Given the description of an element on the screen output the (x, y) to click on. 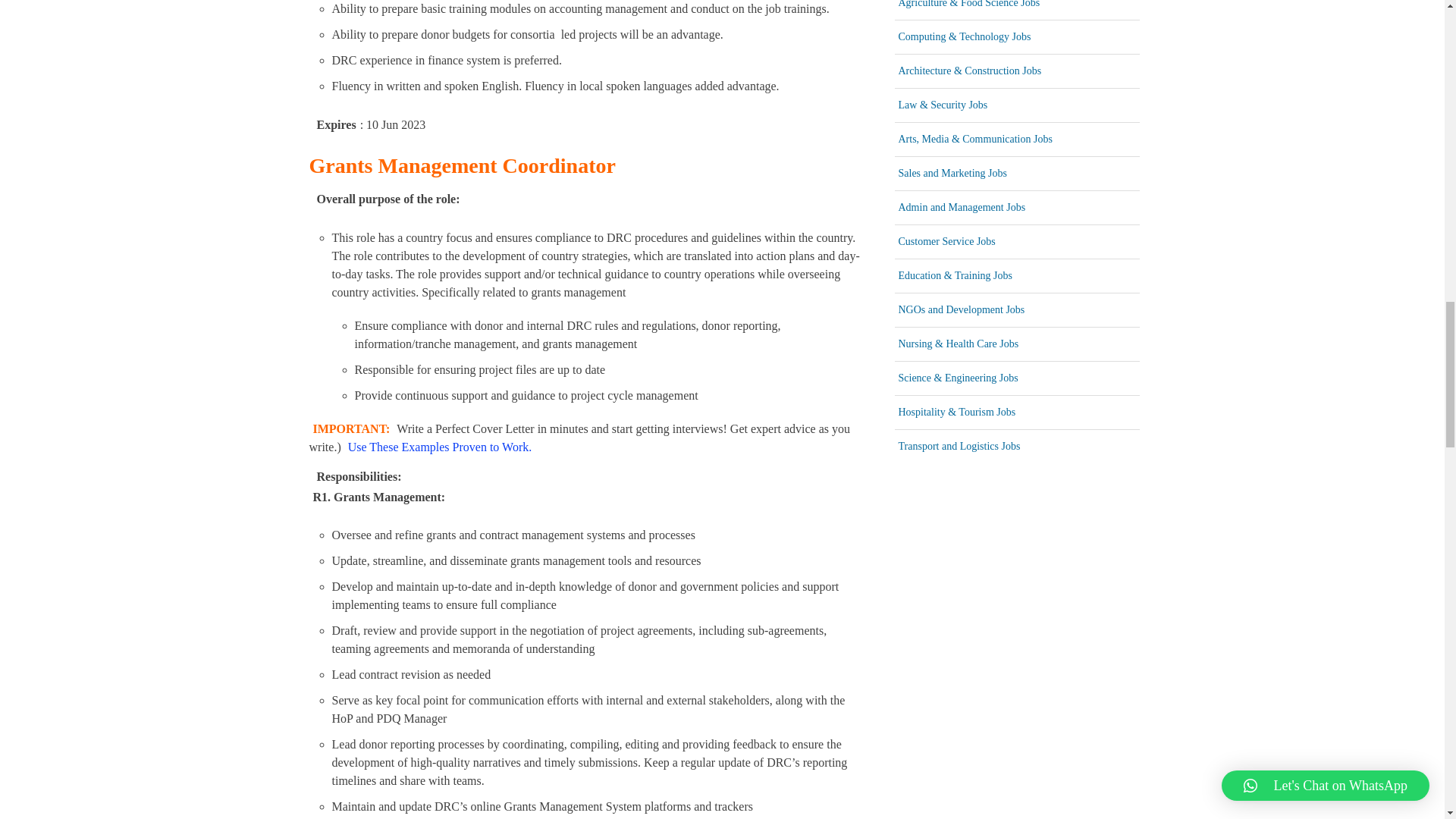
Use These Examples Proven to Work. (437, 446)
